Given the description of an element on the screen output the (x, y) to click on. 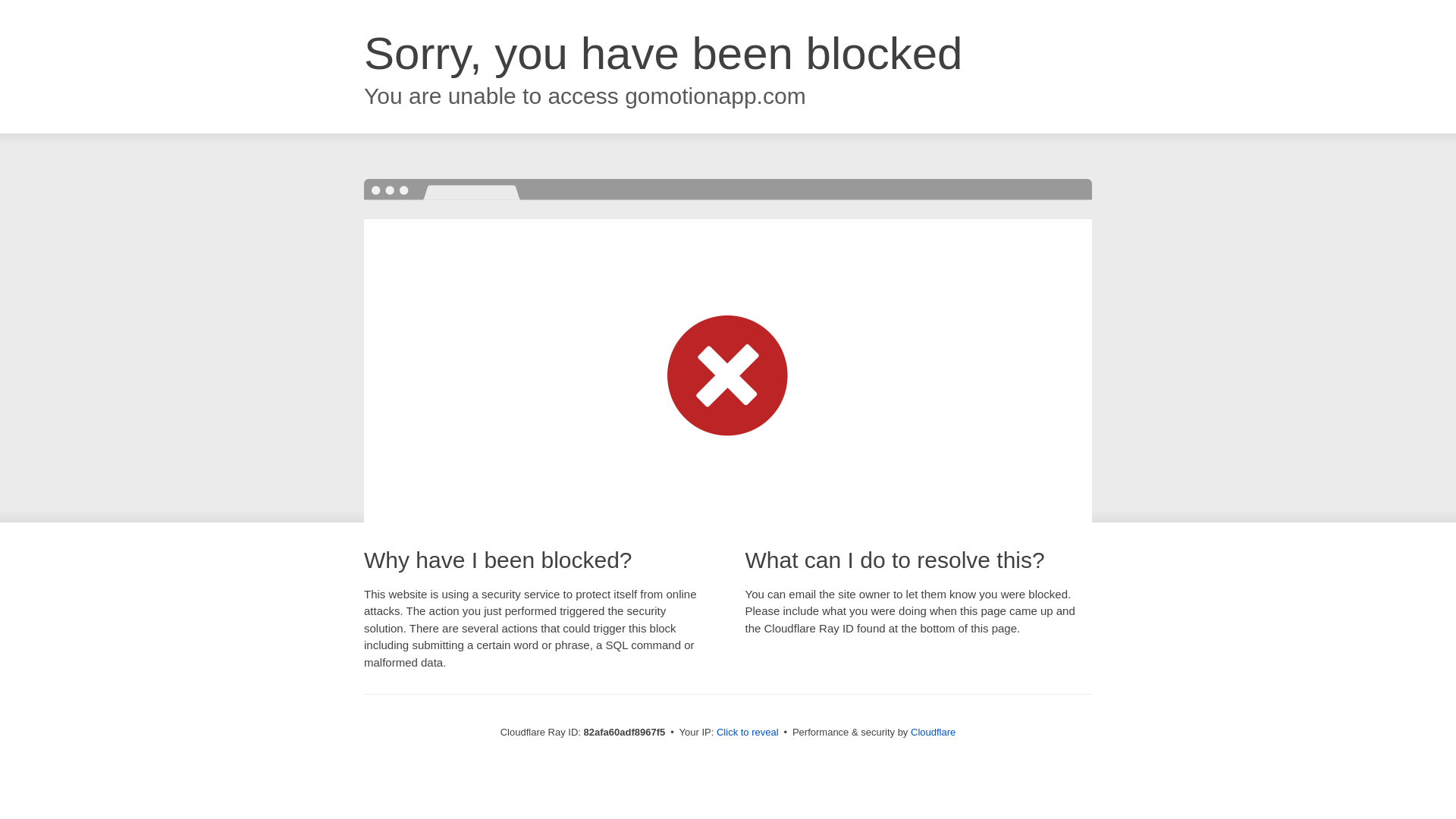
Cloudflare Element type: text (932, 731)
Click to reveal Element type: text (747, 732)
